Given the description of an element on the screen output the (x, y) to click on. 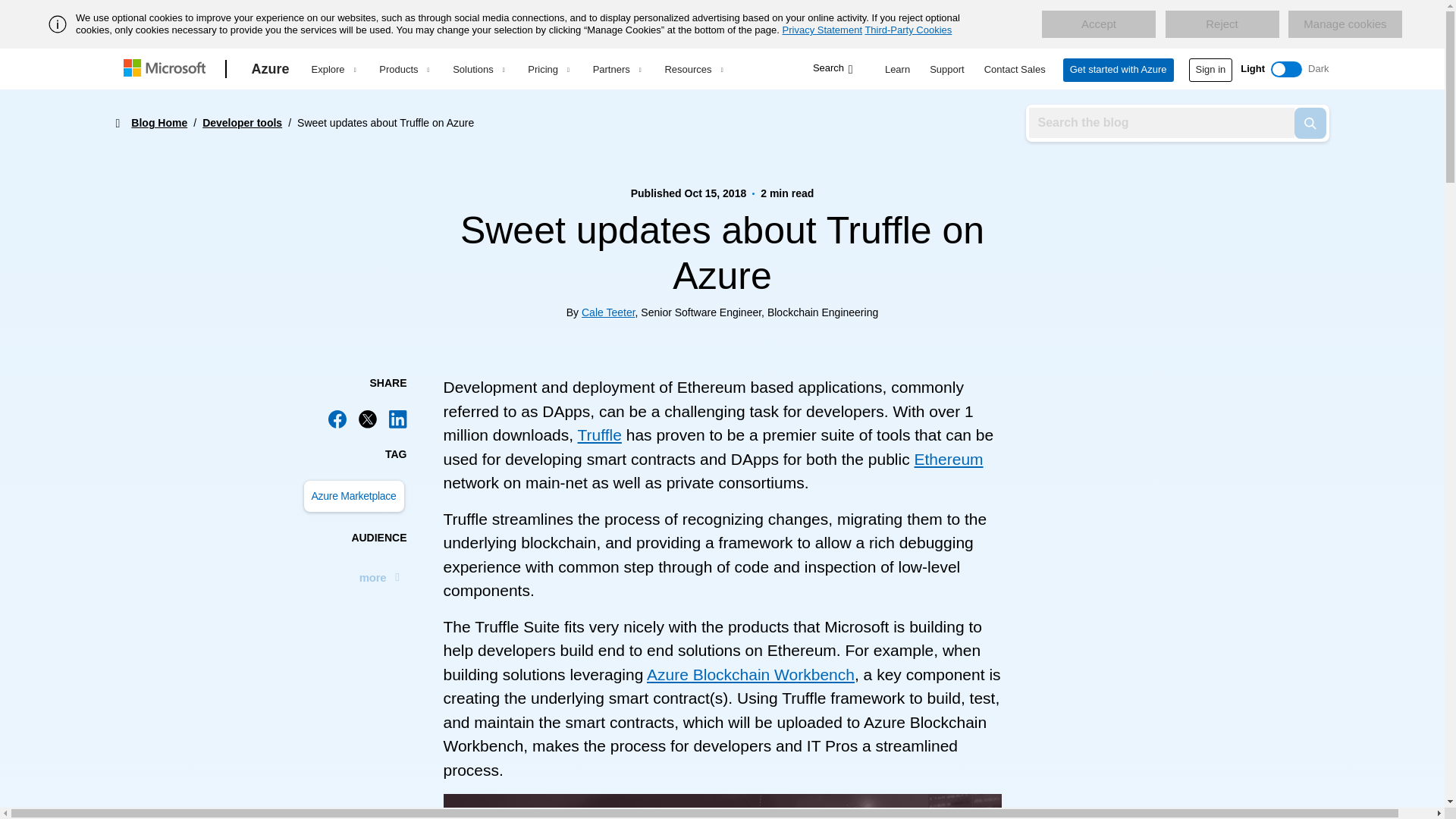
Manage cookies (1345, 23)
Products (403, 69)
Third-Party Cookies (908, 30)
Explore (333, 69)
Azure (270, 69)
Reject (1221, 23)
Accept (1099, 23)
Privacy Statement (823, 30)
Microsoft (167, 69)
